Given the description of an element on the screen output the (x, y) to click on. 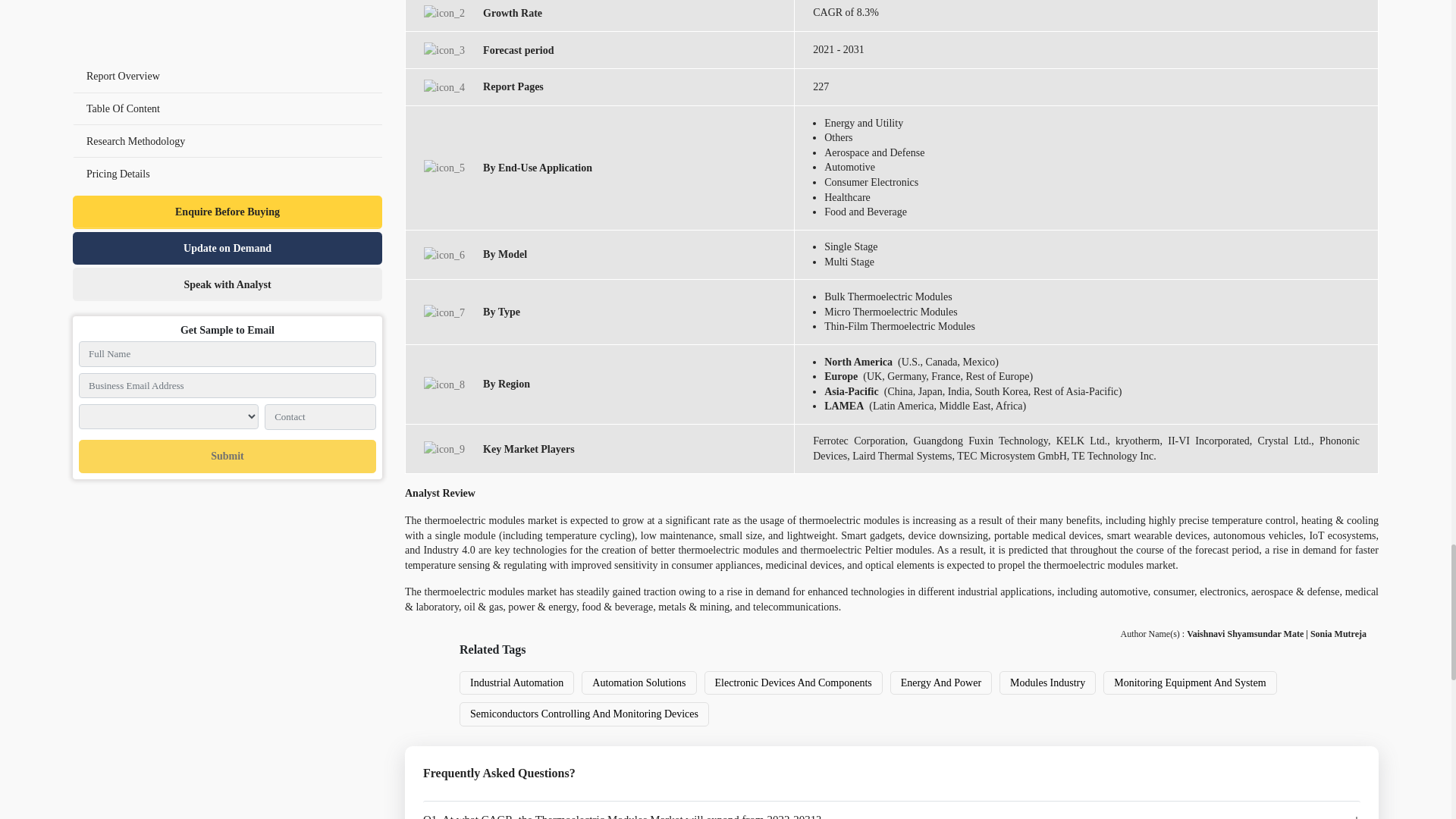
Report Pages (443, 87)
Thermoelectric Modules Market By Type (443, 312)
Growth Rate (443, 12)
Forecast period (443, 50)
Key Market Players (443, 449)
Thermoelectric Modules Market By End-Use Application (443, 167)
Thermoelectric Modules Market By Model (443, 254)
Industrial Automation (516, 682)
Thermoelectric Modules Market By Region (443, 384)
Automation Solutions (638, 682)
